Given the description of an element on the screen output the (x, y) to click on. 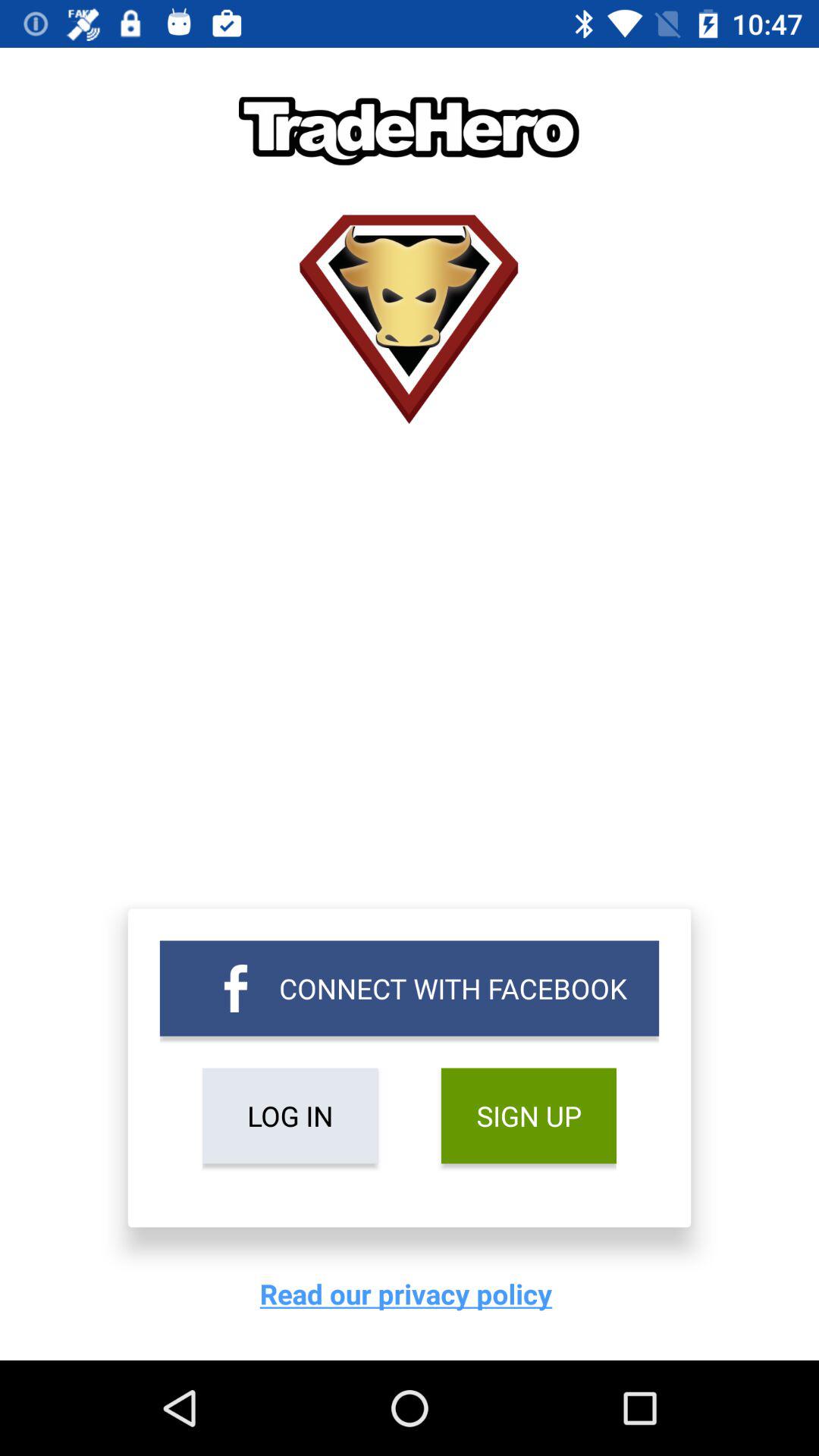
choose item to the left of sign up item (289, 1115)
